Given the description of an element on the screen output the (x, y) to click on. 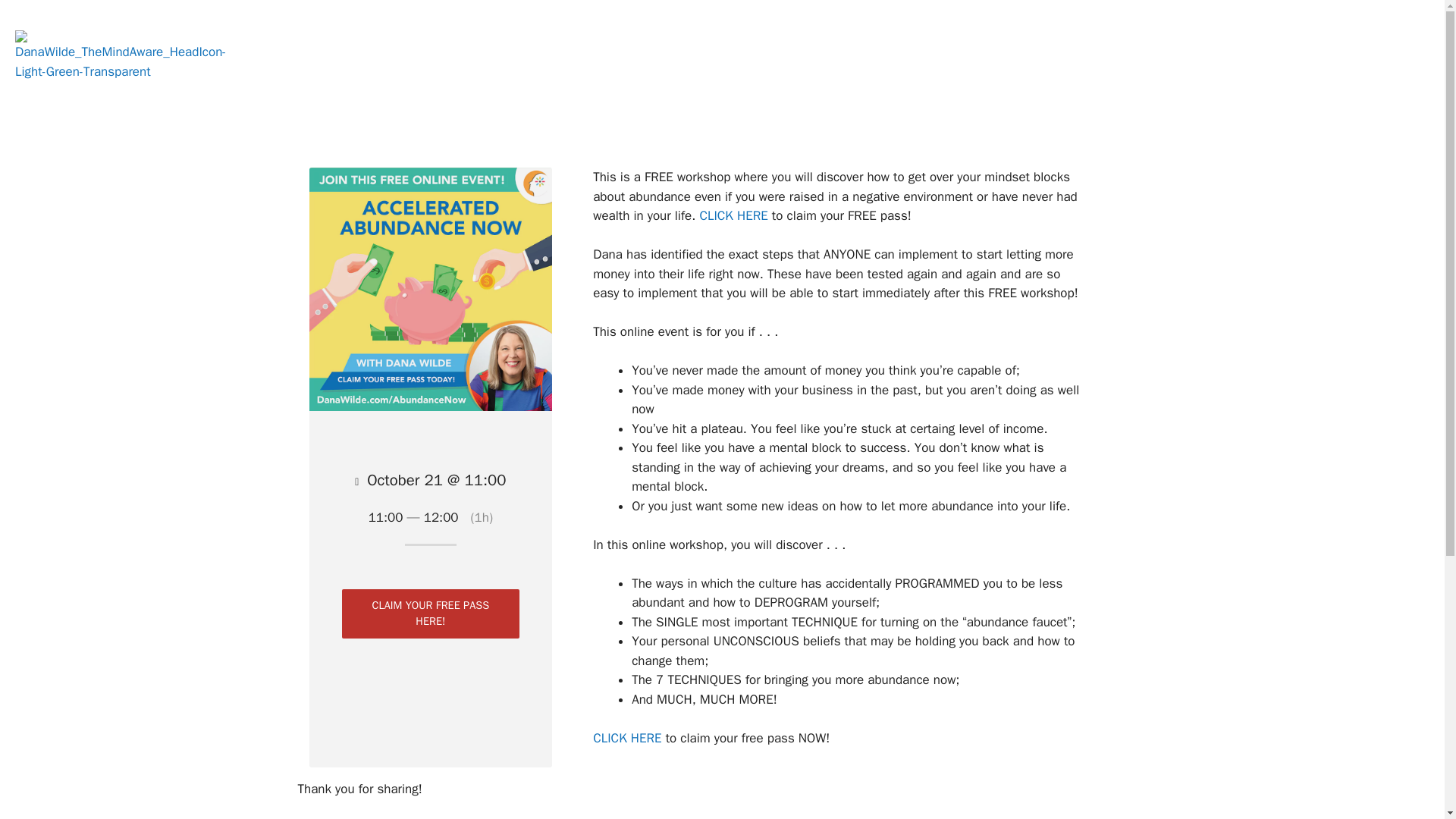
CLICK HERE (626, 737)
CLICK HERE (732, 215)
CLAIM YOUR FREE PASS HERE! (430, 613)
